Given the description of an element on the screen output the (x, y) to click on. 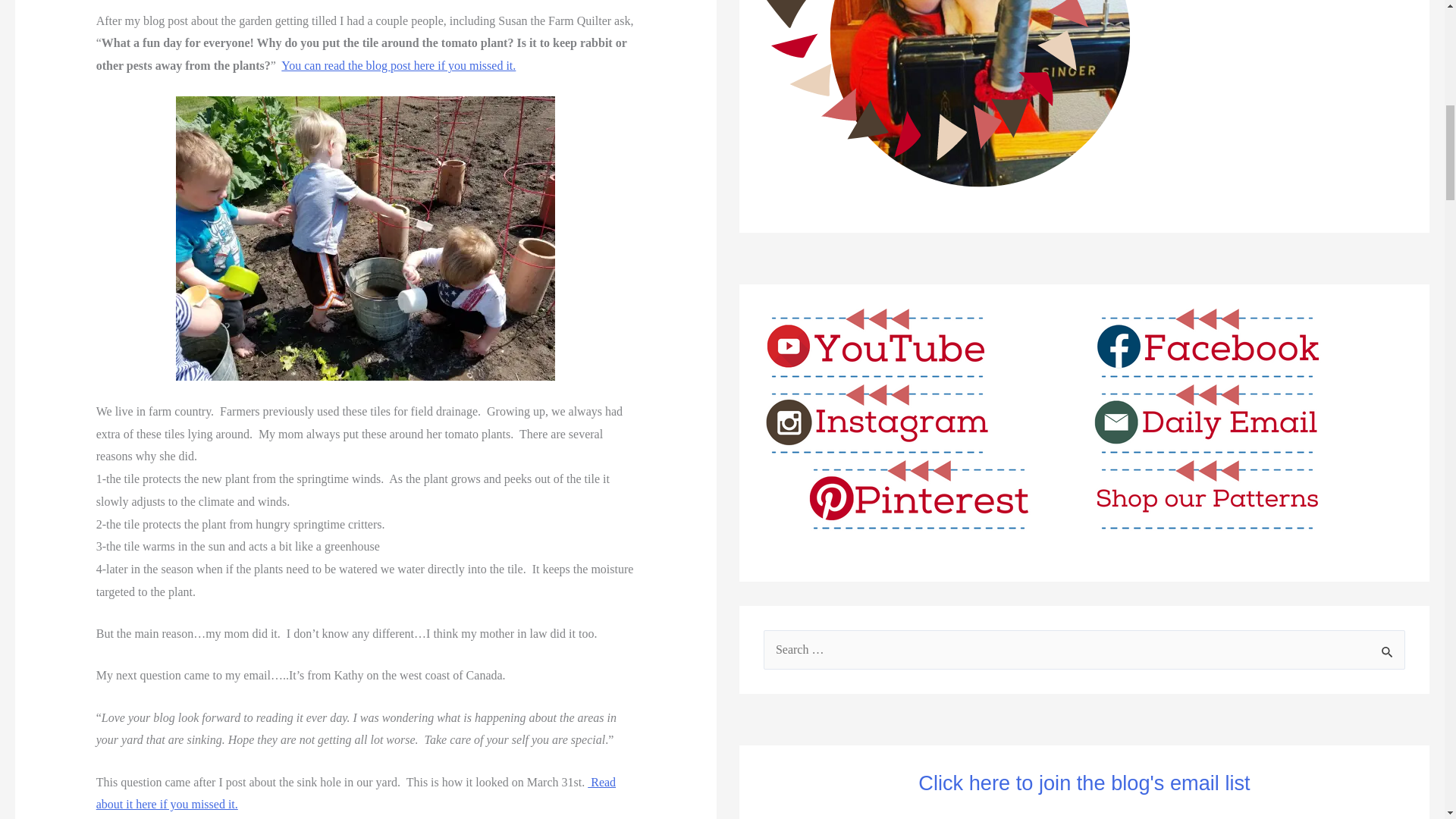
Search (1388, 650)
Search (1388, 650)
